Given the description of an element on the screen output the (x, y) to click on. 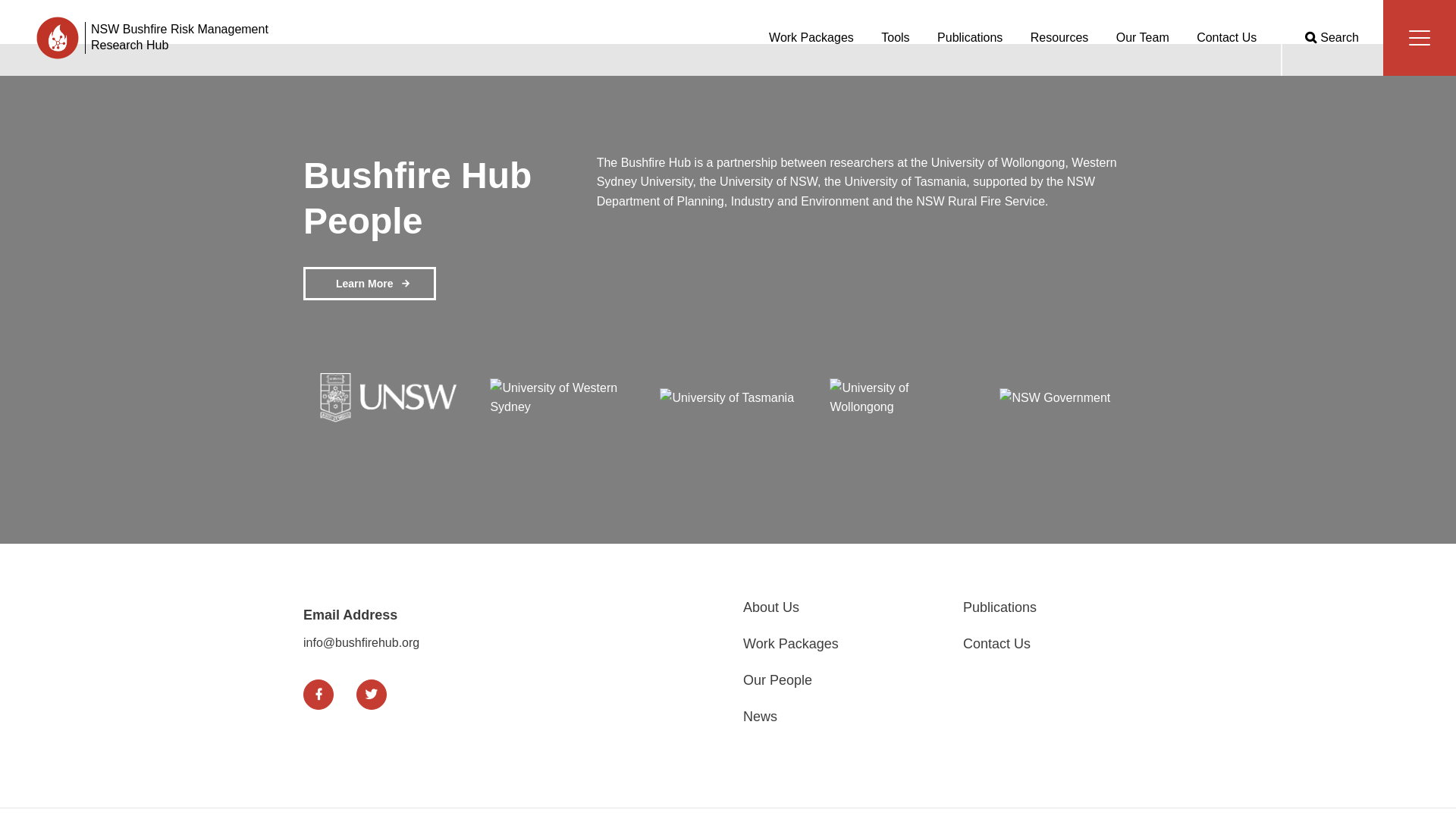
Learn More (368, 283)
